Given the description of an element on the screen output the (x, y) to click on. 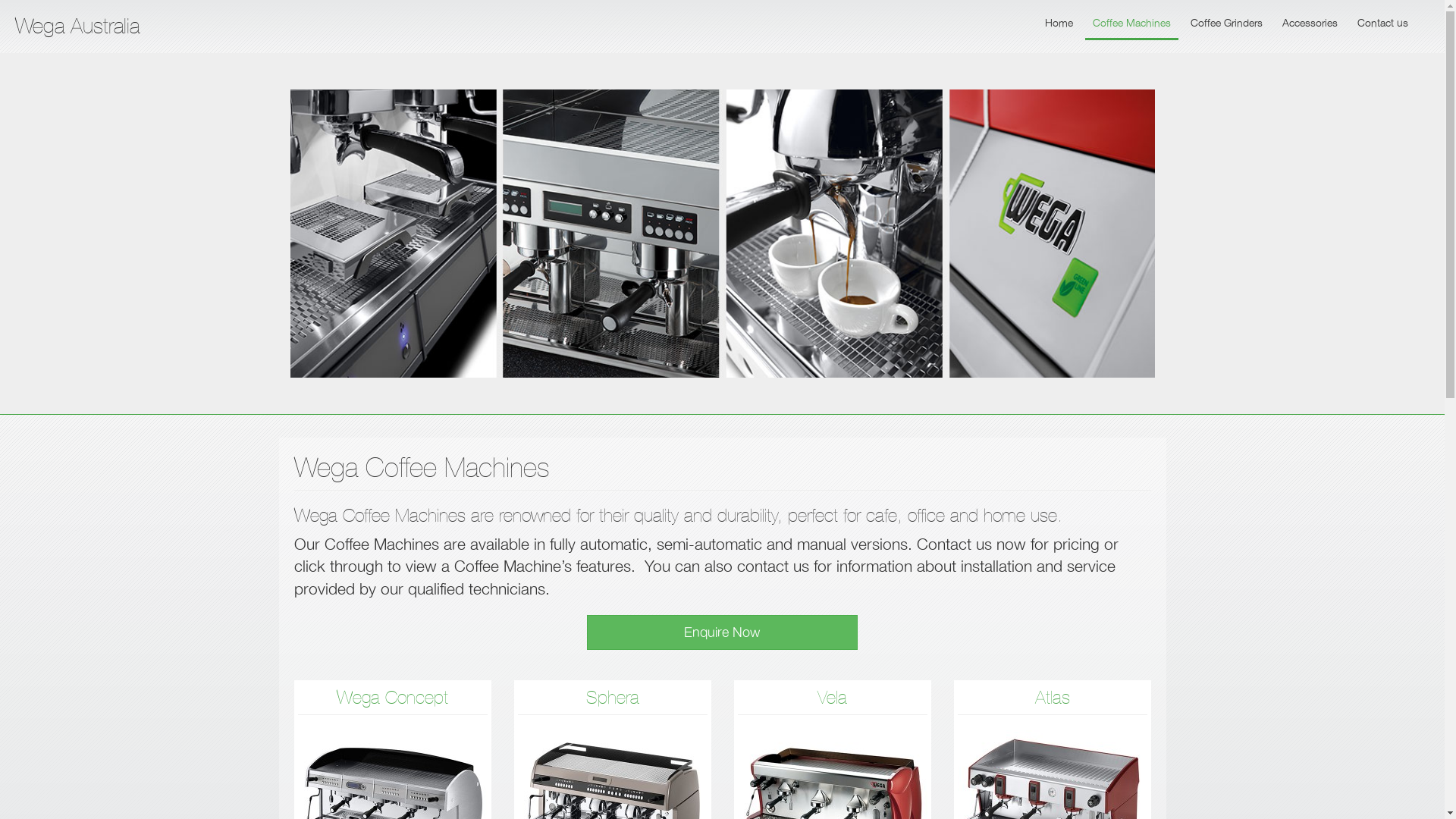
Coffee Machines Element type: text (1131, 23)
Wega Australia Element type: text (77, 25)
Atlas Element type: text (1051, 697)
Enquire Now Element type: text (721, 632)
Vela Element type: text (832, 697)
Coffee Grinders Element type: text (1226, 23)
Wega Concept Element type: text (392, 697)
Sphera Element type: text (611, 697)
Home Element type: text (1058, 23)
Accessories Element type: text (1309, 23)
Contact us Element type: text (1382, 23)
